Given the description of an element on the screen output the (x, y) to click on. 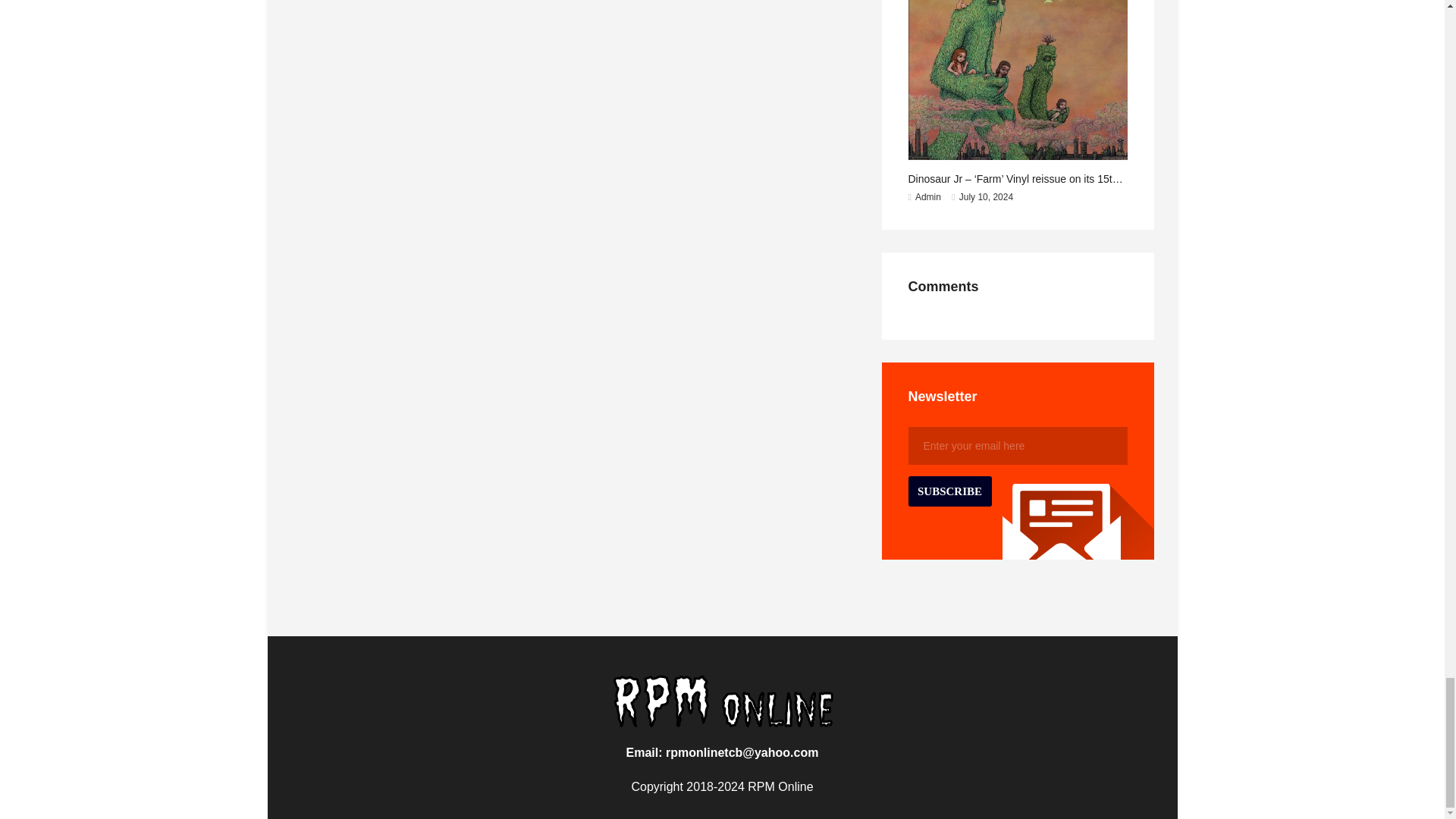
Subscribe (949, 490)
